Given the description of an element on the screen output the (x, y) to click on. 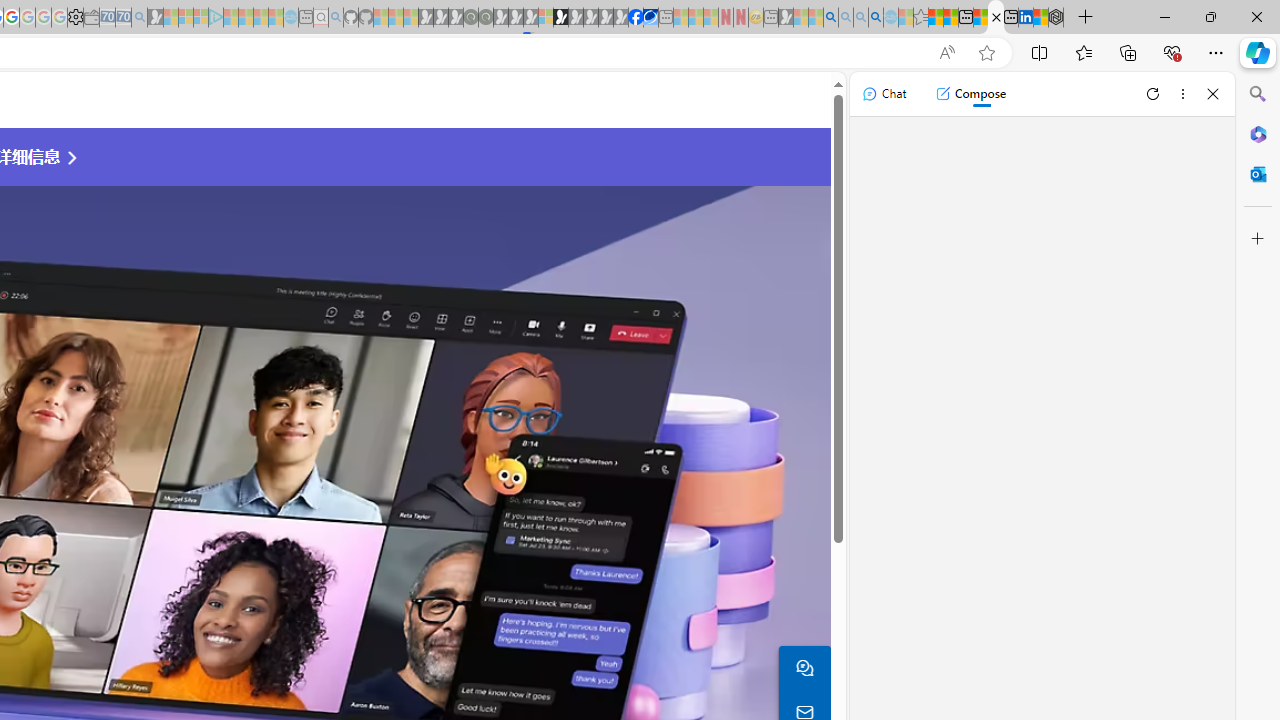
Compose (970, 93)
